Given the description of an element on the screen output the (x, y) to click on. 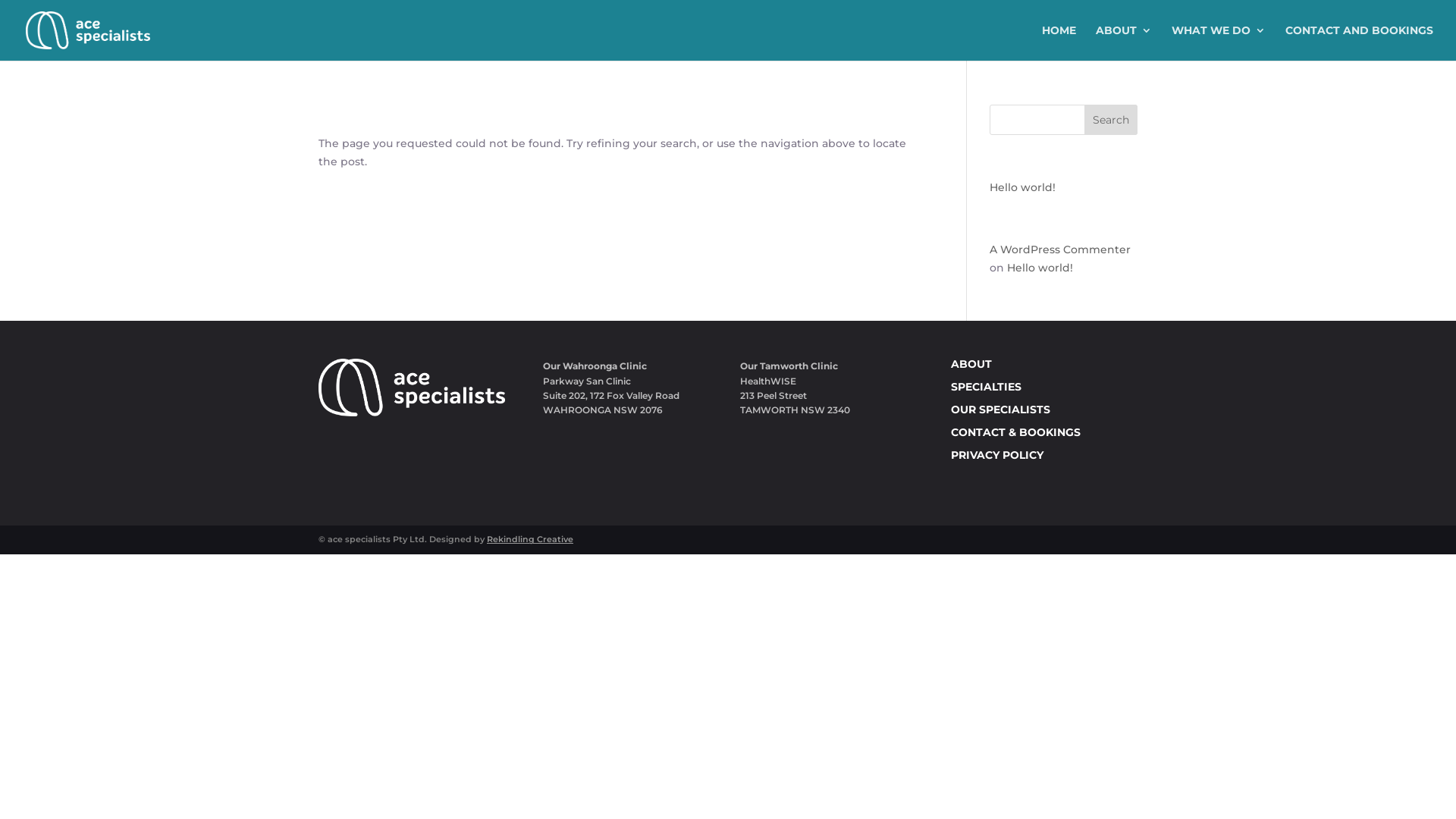
Search Element type: text (1110, 119)
ABOUT Element type: text (1123, 42)
A WordPress Commenter Element type: text (1059, 249)
Hello world! Element type: text (1040, 267)
ACE_LOGO_RGB_SECONDARY_NEGATIVE Element type: hover (411, 387)
Rekindling Creative Element type: text (529, 538)
Hello world! Element type: text (1022, 187)
WHAT WE DO Element type: text (1218, 42)
HOME Element type: text (1058, 42)
CONTACT AND BOOKINGS Element type: text (1359, 42)
